Given the description of an element on the screen output the (x, y) to click on. 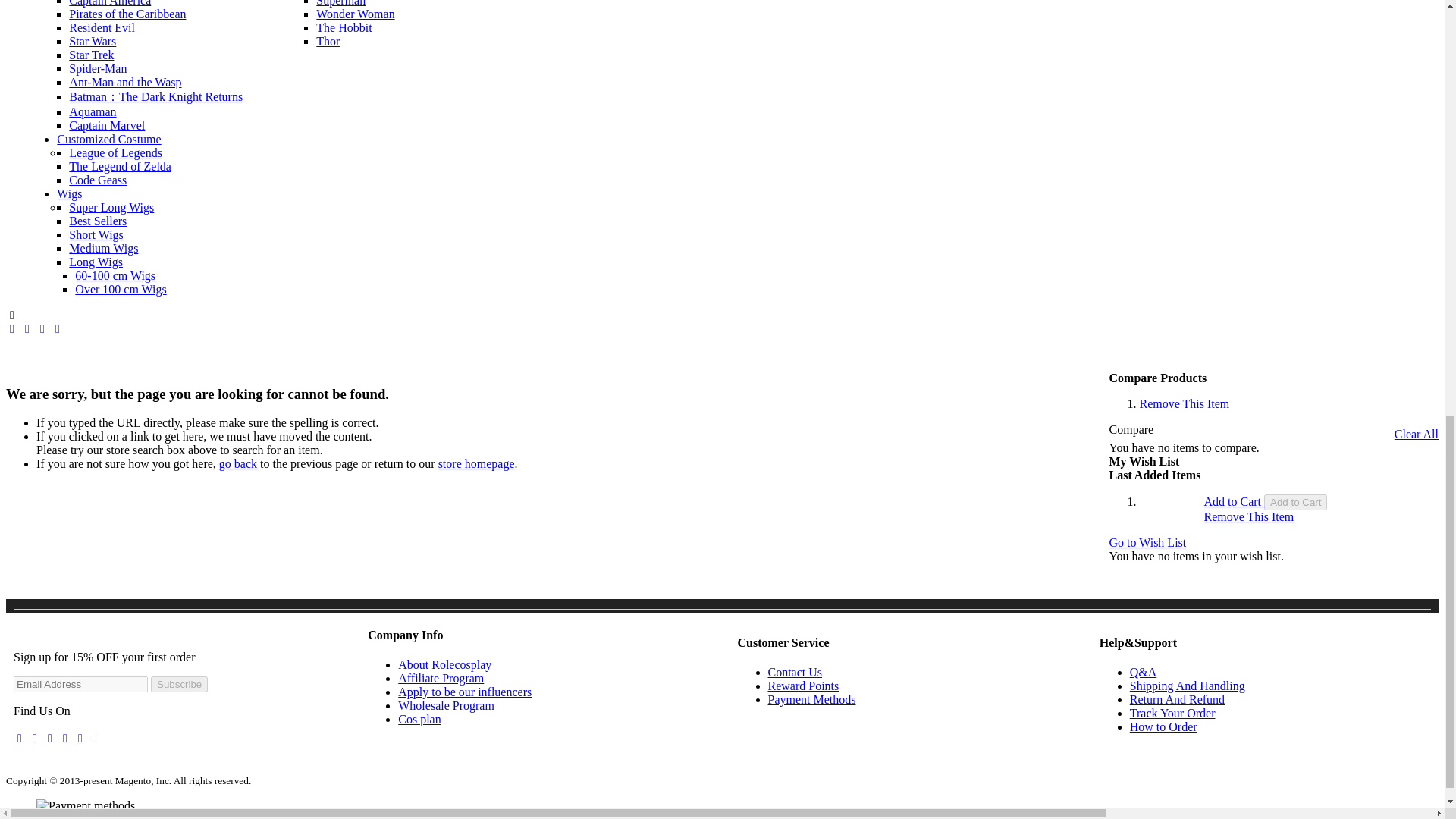
Twitter (27, 328)
Twitter (79, 738)
Pinterest (65, 738)
Youtube (57, 328)
Remove This Item (1185, 403)
Subscribe (179, 684)
Facebook (19, 738)
Facebook (11, 328)
Instagram (34, 738)
Remove This Item (1249, 516)
Youtube (49, 738)
Go to Wish List (1147, 542)
Instagram (42, 328)
